Given the description of an element on the screen output the (x, y) to click on. 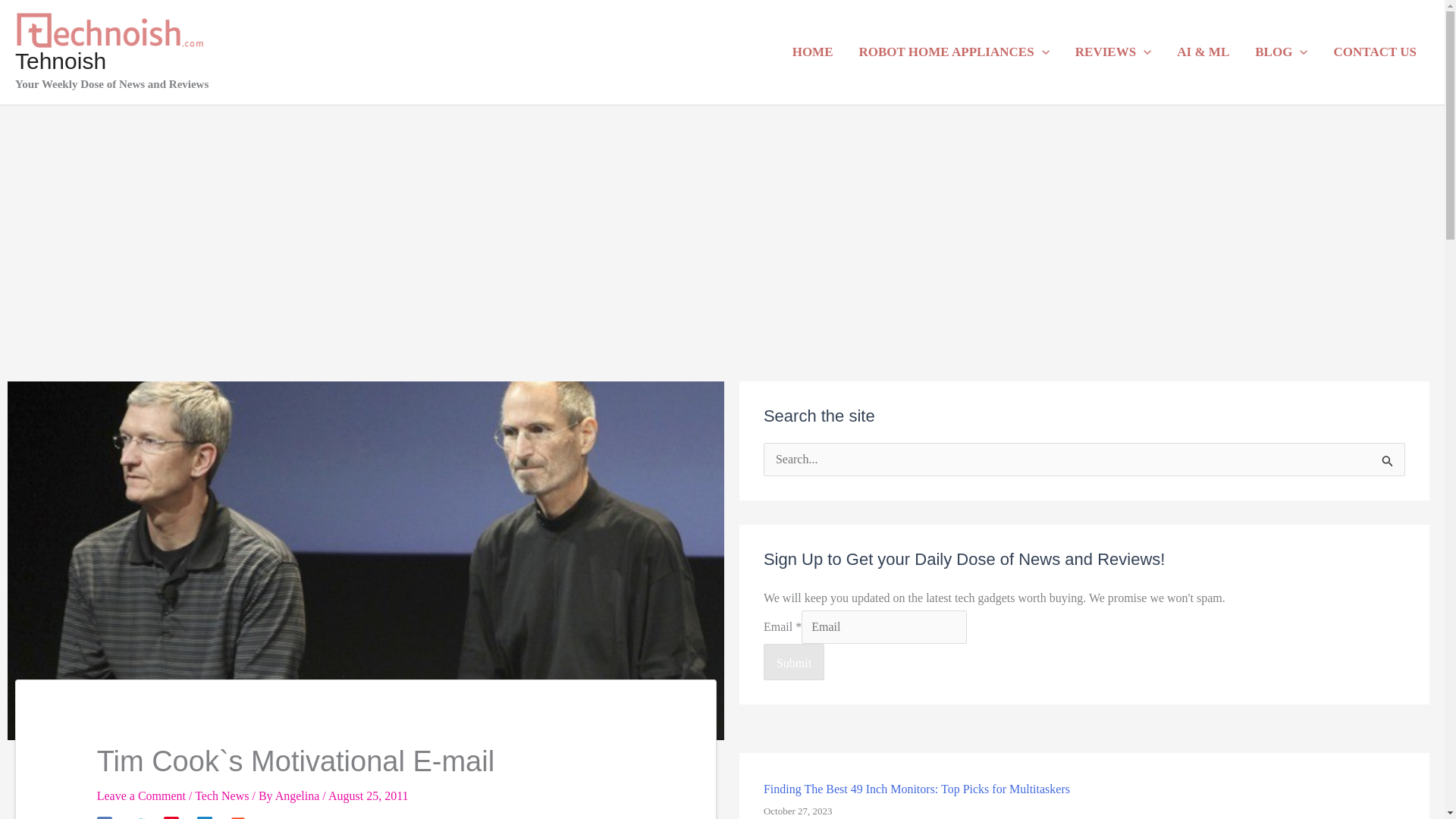
ROBOT HOME APPLIANCES (953, 51)
View all posts by Angelina (299, 795)
Tehnoish (60, 60)
BLOG (1280, 51)
HOME (811, 51)
REVIEWS (1113, 51)
CONTACT US (1374, 51)
